Given the description of an element on the screen output the (x, y) to click on. 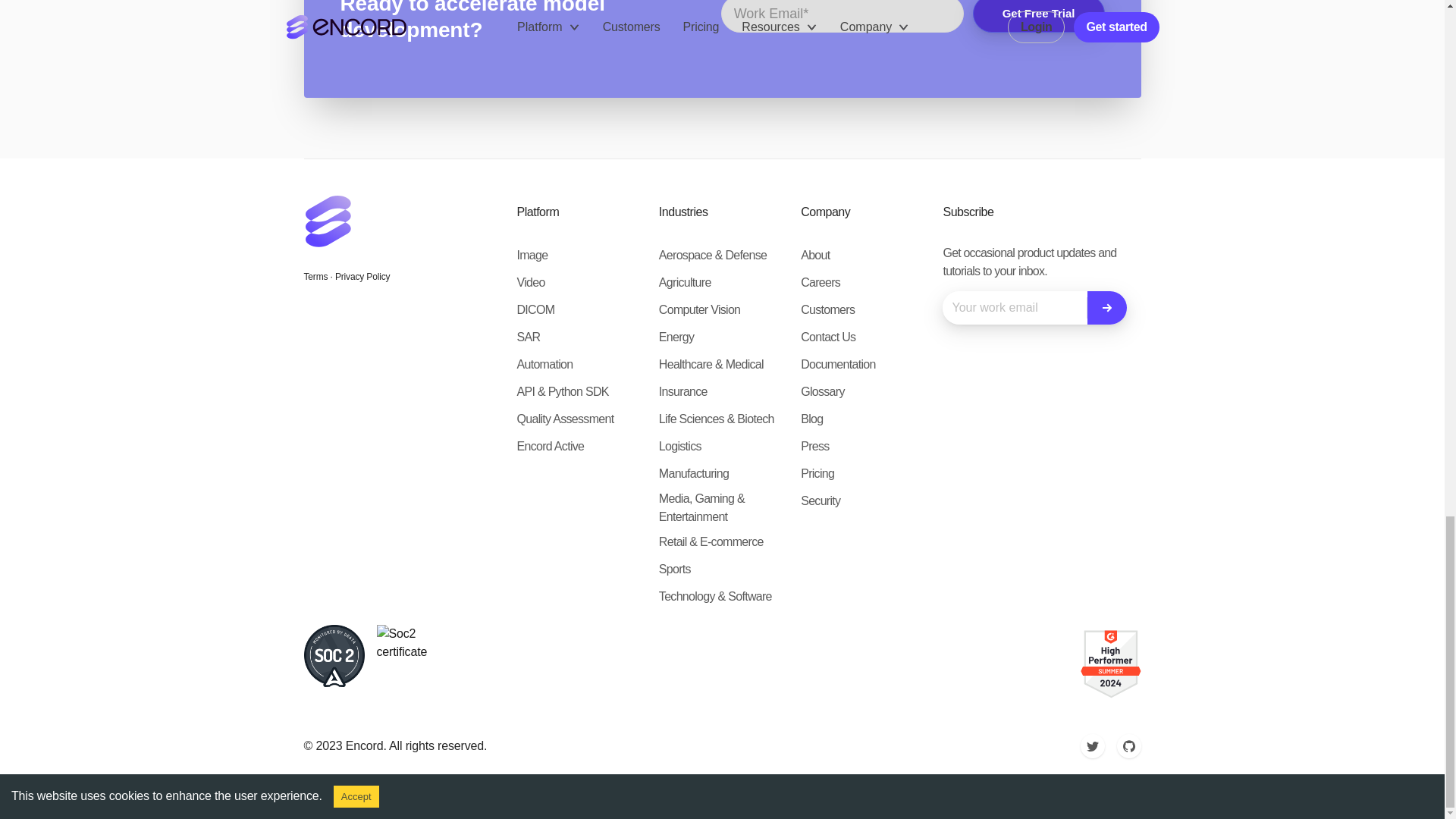
Image (532, 255)
Quality Assessment (565, 419)
SAR (528, 337)
Privacy Policy (362, 276)
DICOM (535, 310)
Encord Active (550, 446)
Terms (314, 276)
Video (530, 282)
Get Free Trial (1038, 16)
Agriculture (685, 282)
Automation (544, 364)
